Given the description of an element on the screen output the (x, y) to click on. 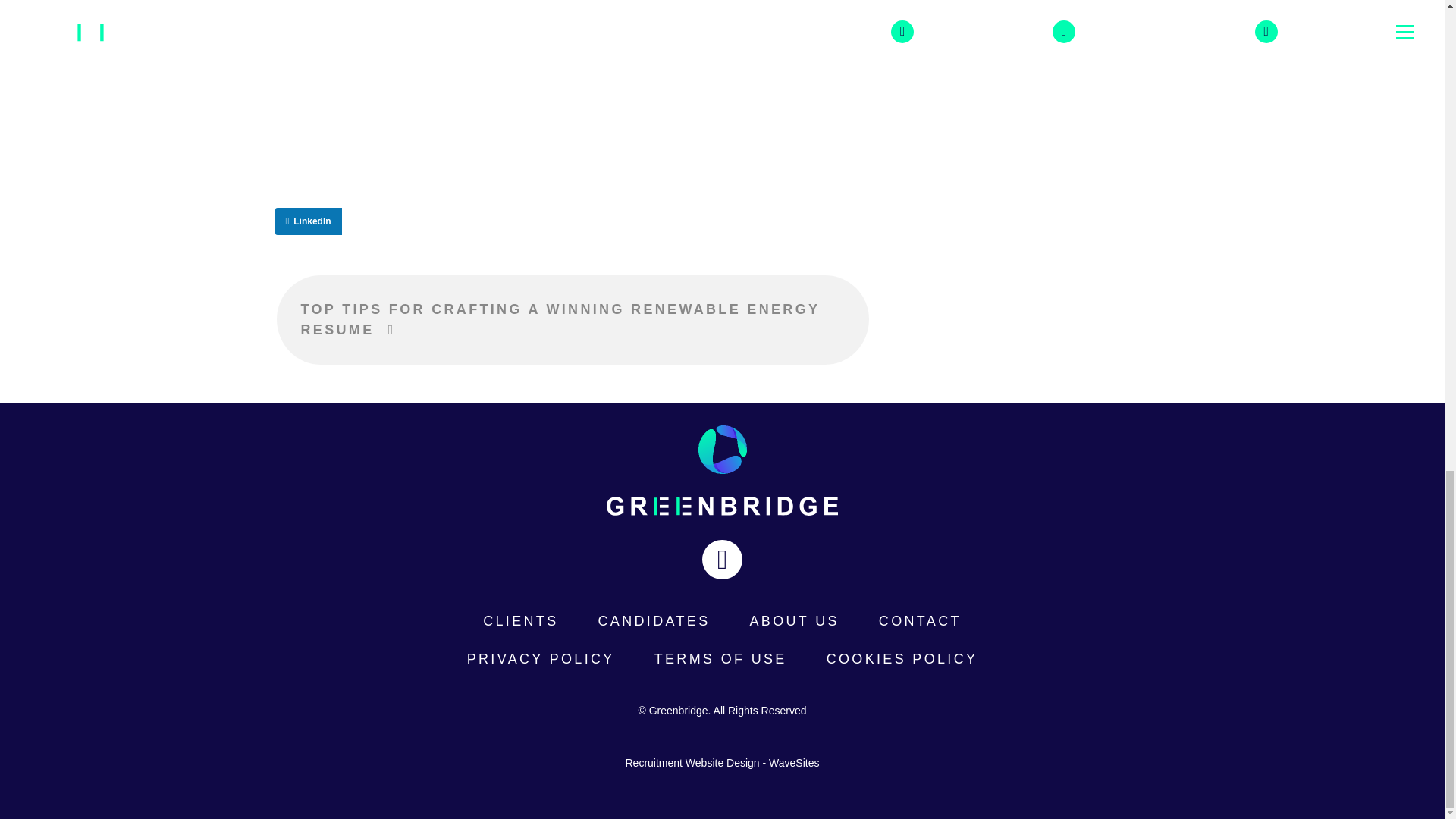
logo-img-circle (721, 449)
LinkedIn (307, 221)
TOP TIPS FOR CRAFTING A WINNING RENEWABLE ENERGY RESUME (572, 318)
Linkedin (721, 559)
logo-word-greenbridge (722, 505)
